Given the description of an element on the screen output the (x, y) to click on. 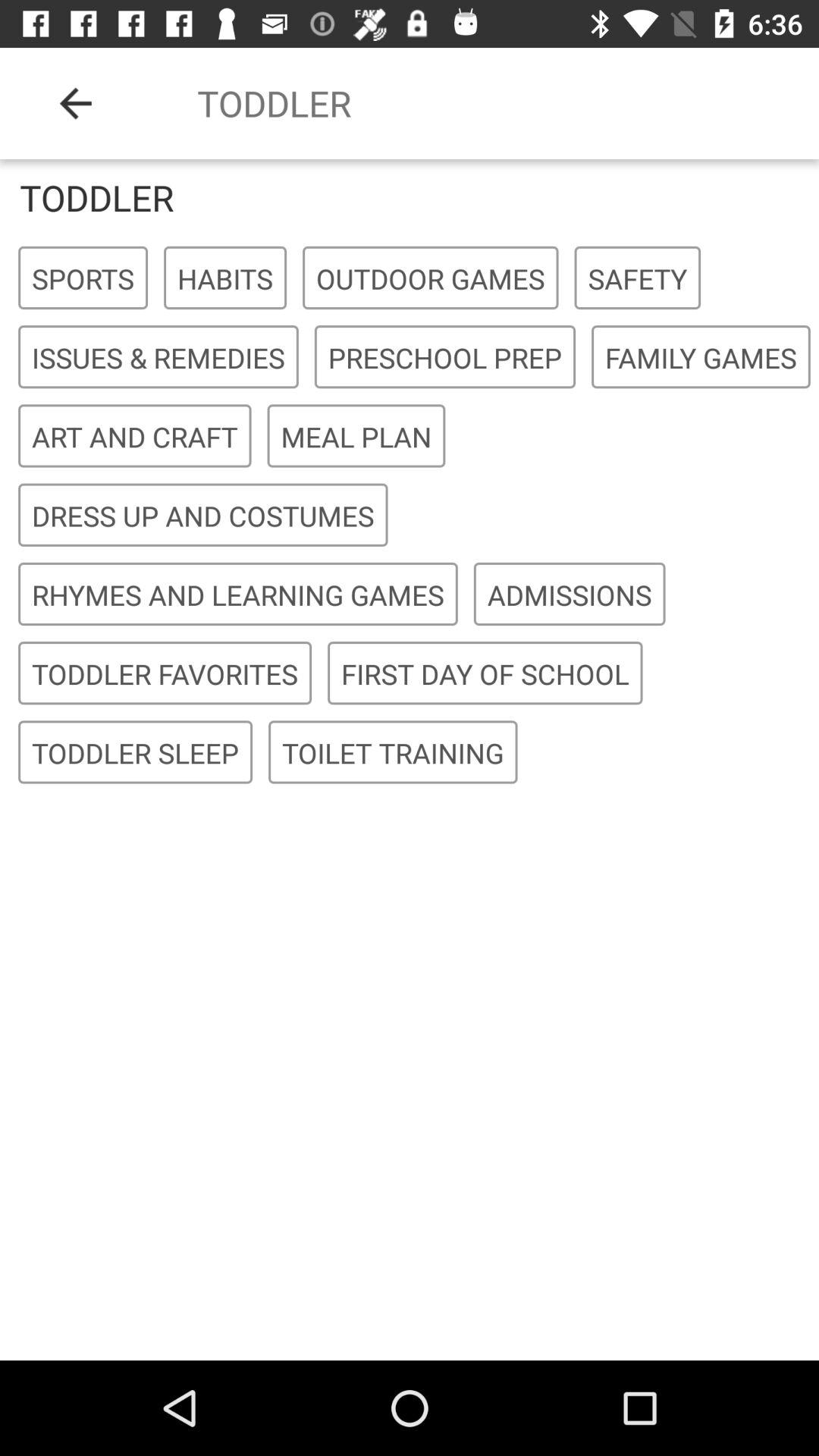
press the icon below the toddler favorites (392, 752)
